Given the description of an element on the screen output the (x, y) to click on. 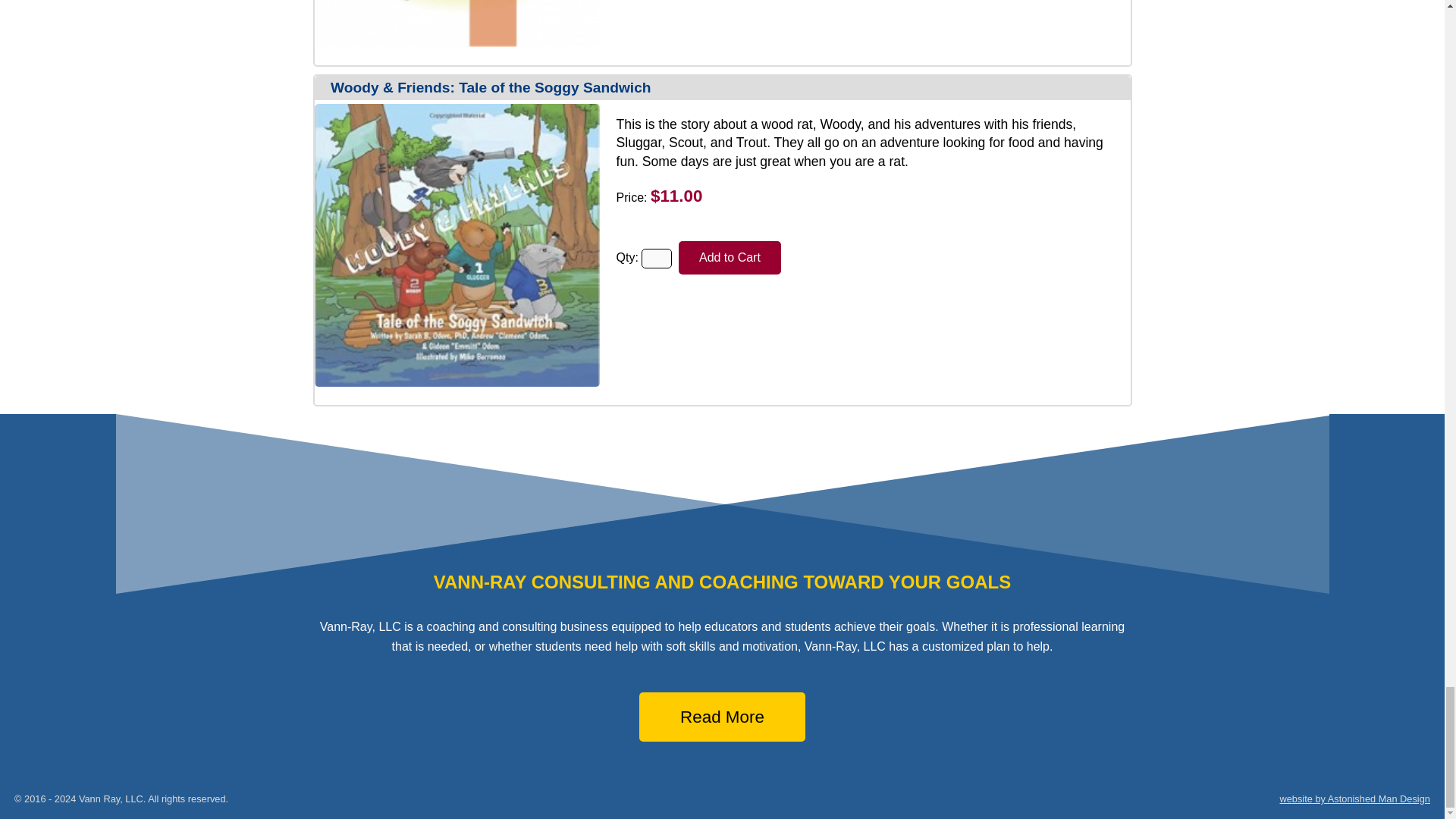
Read More (722, 717)
website by Astonished Man Design (1354, 798)
Add to Cart (729, 257)
